Given the description of an element on the screen output the (x, y) to click on. 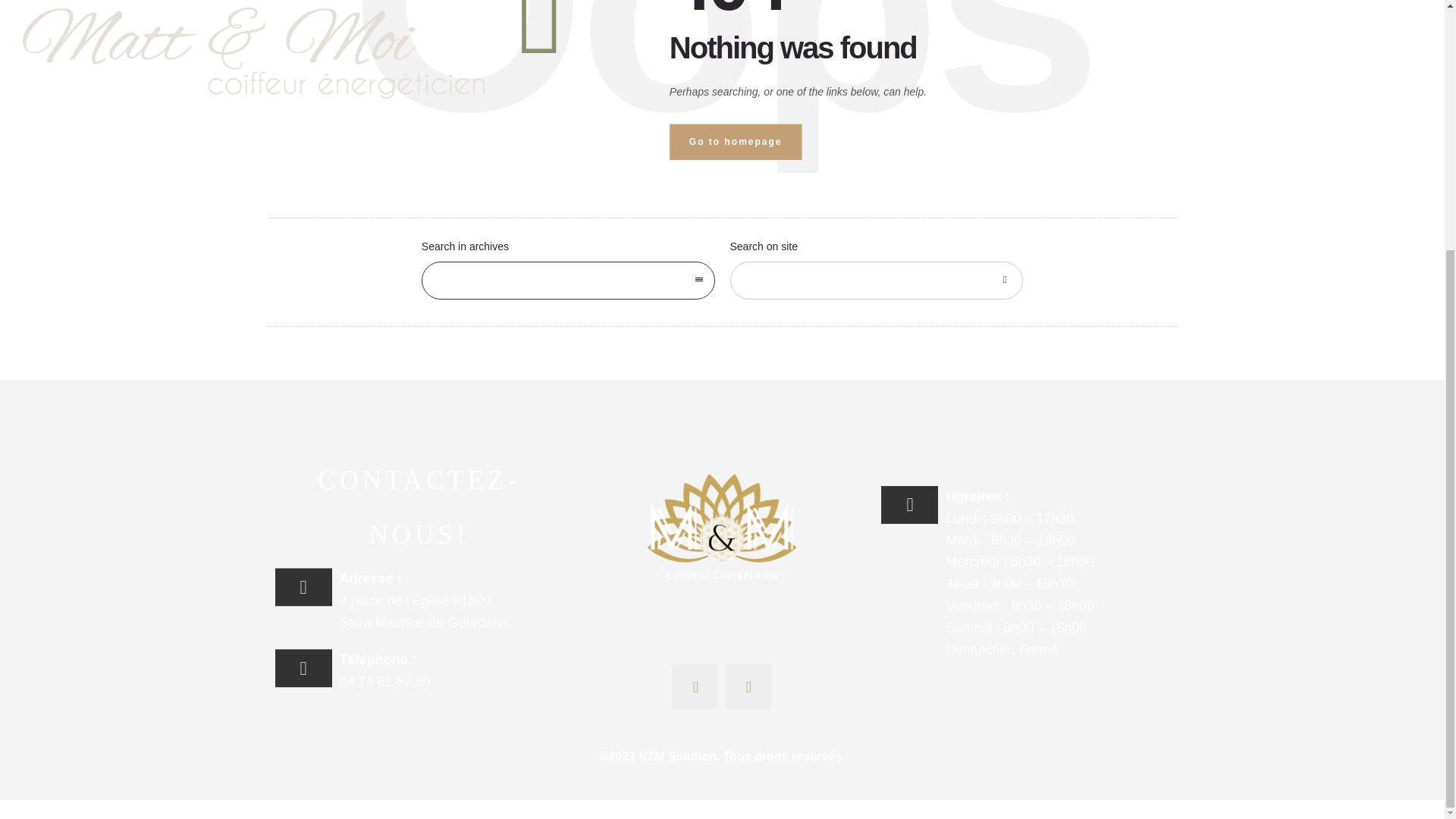
Go to homepage (735, 141)
Search (1004, 280)
Search (1004, 280)
